Given the description of an element on the screen output the (x, y) to click on. 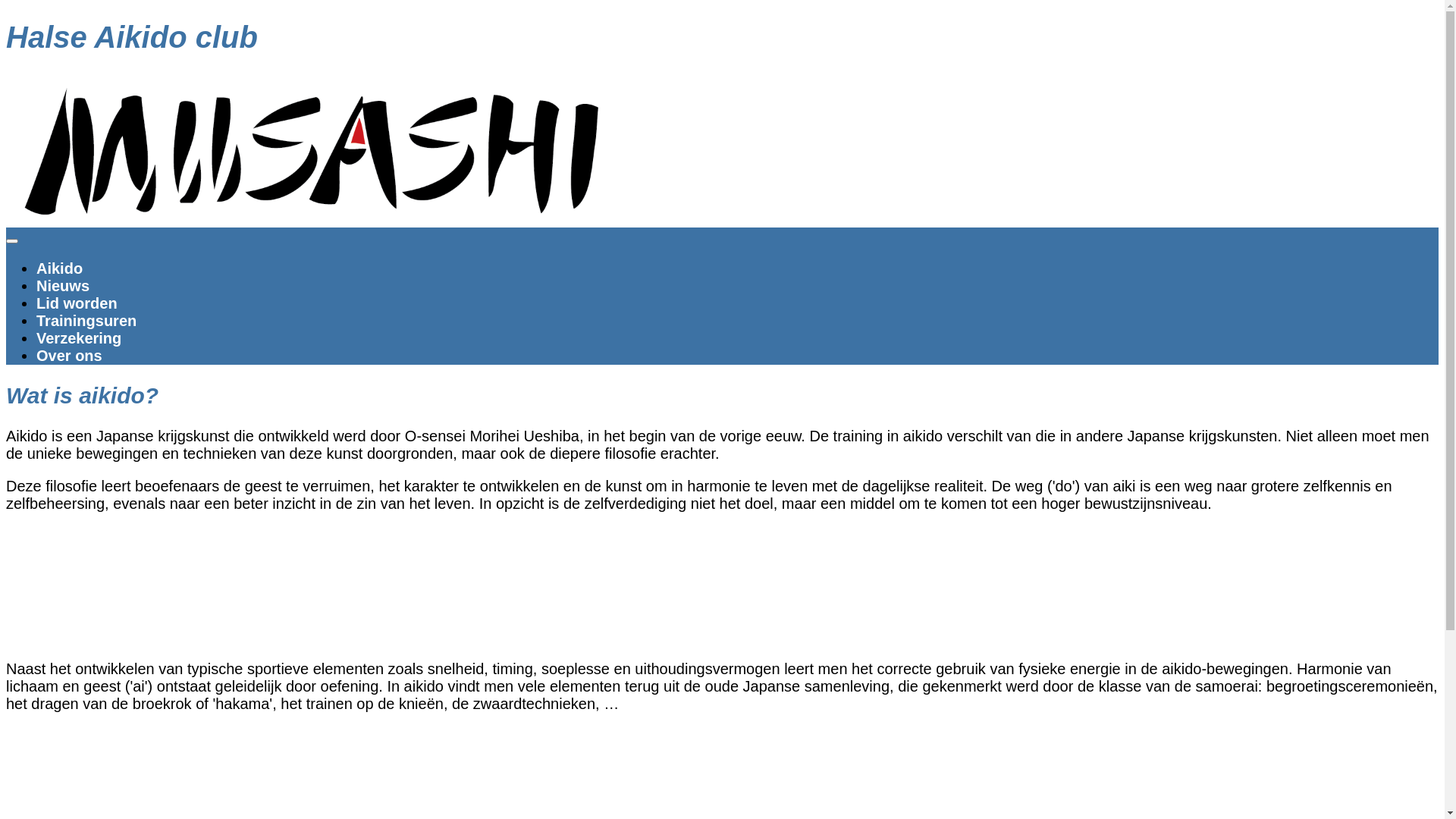
Nieuws Element type: text (62, 285)
Verzekering Element type: text (78, 337)
Aikido Element type: text (59, 268)
Over ons Element type: text (69, 355)
Trainingsuren Element type: text (86, 320)
Lid worden Element type: text (76, 302)
